Given the description of an element on the screen output the (x, y) to click on. 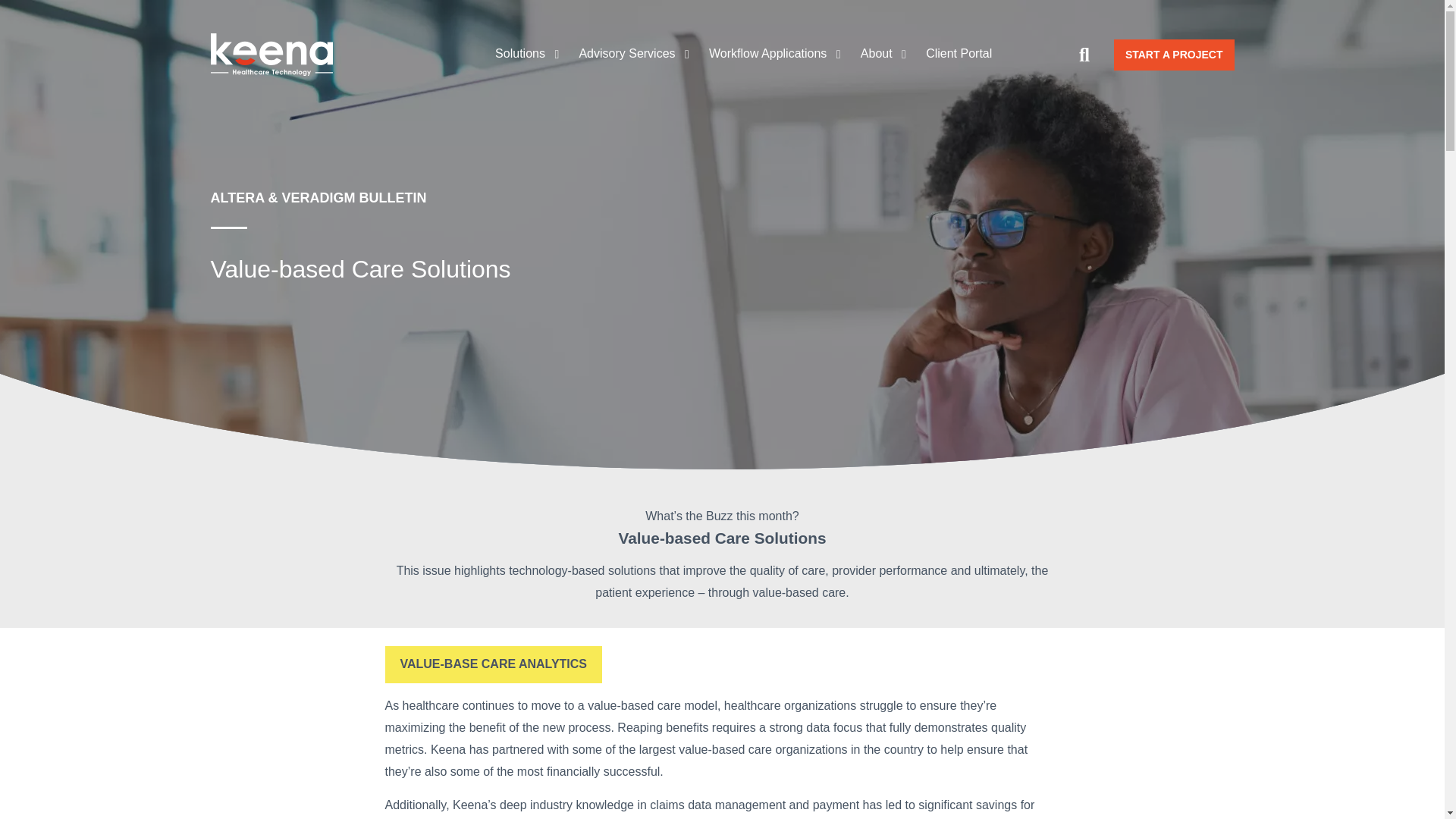
Solutions (527, 53)
About (883, 53)
Advisory Services (634, 53)
START A PROJECT (1173, 54)
Client Portal (958, 53)
Workflow Applications (774, 53)
